Given the description of an element on the screen output the (x, y) to click on. 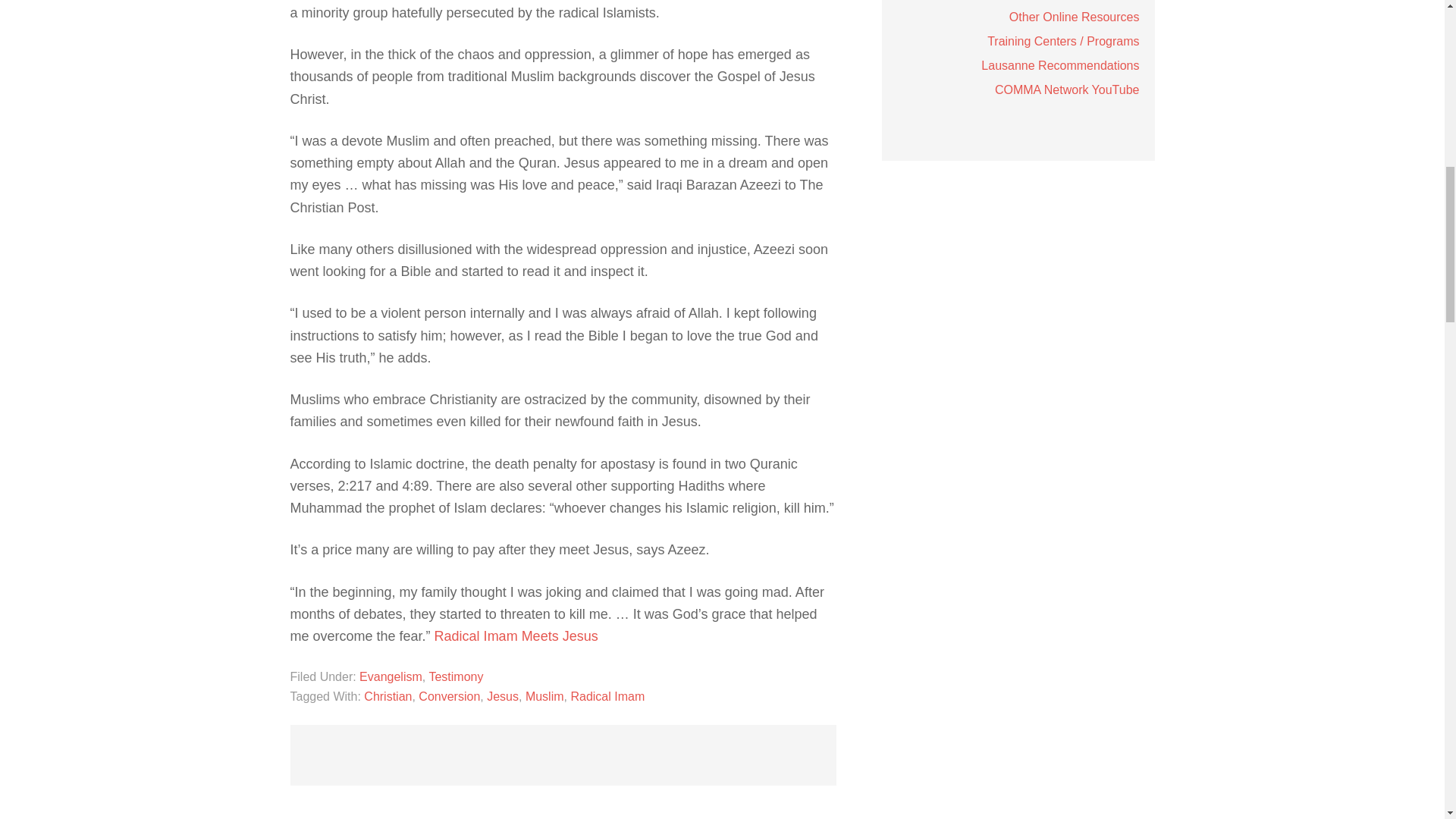
Lausanne Recommendations (1059, 65)
